Given the description of an element on the screen output the (x, y) to click on. 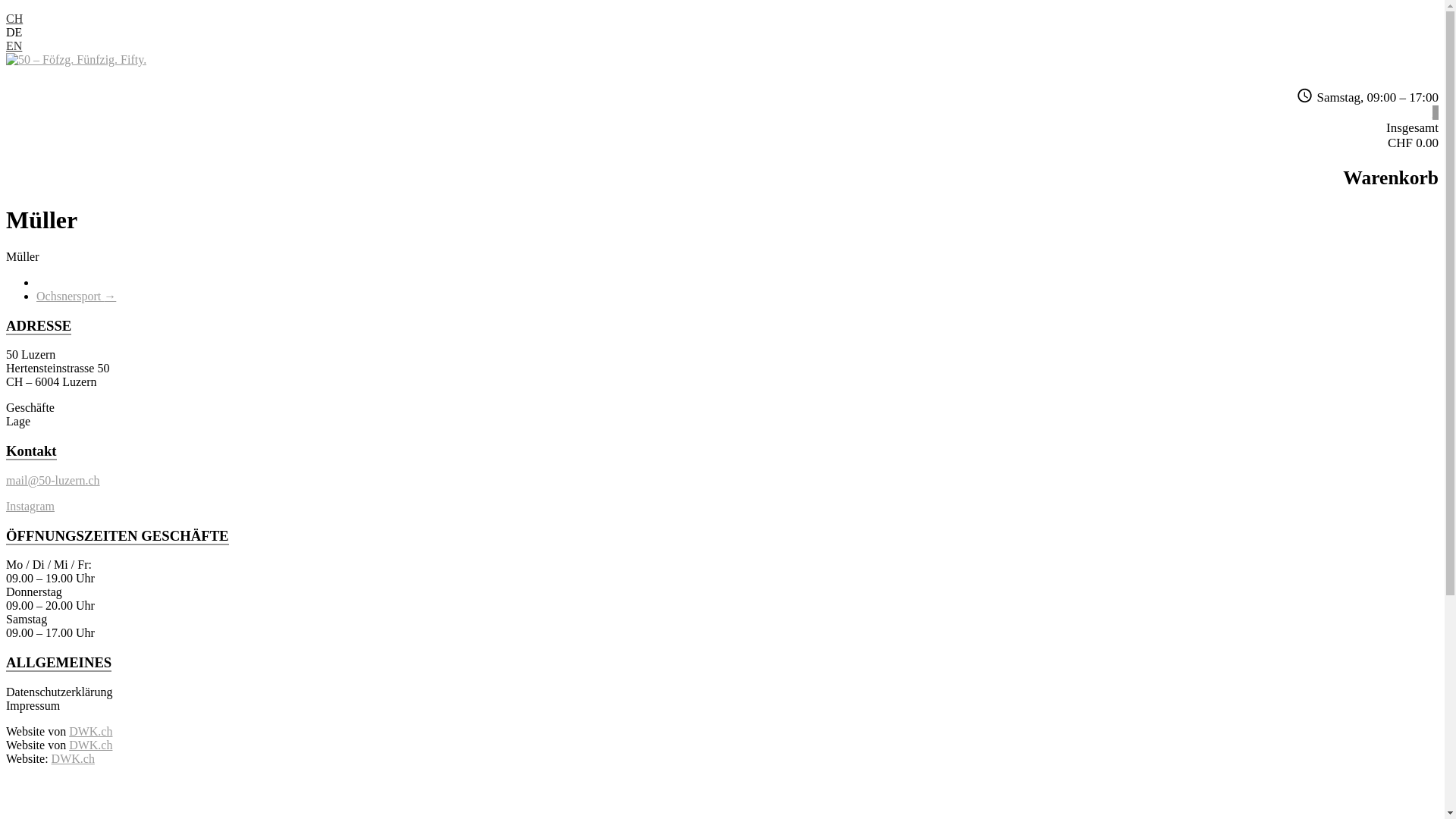
DWK.ch Element type: text (90, 730)
Zum Inhalt springen Element type: text (5, 11)
DWK.ch Element type: text (72, 758)
CH Element type: text (14, 18)
EN Element type: text (13, 45)
0 Element type: text (1434, 112)
mail@50-luzern.ch Element type: text (53, 479)
DWK.ch Element type: text (90, 744)
Instagram Element type: text (30, 505)
